Given the description of an element on the screen output the (x, y) to click on. 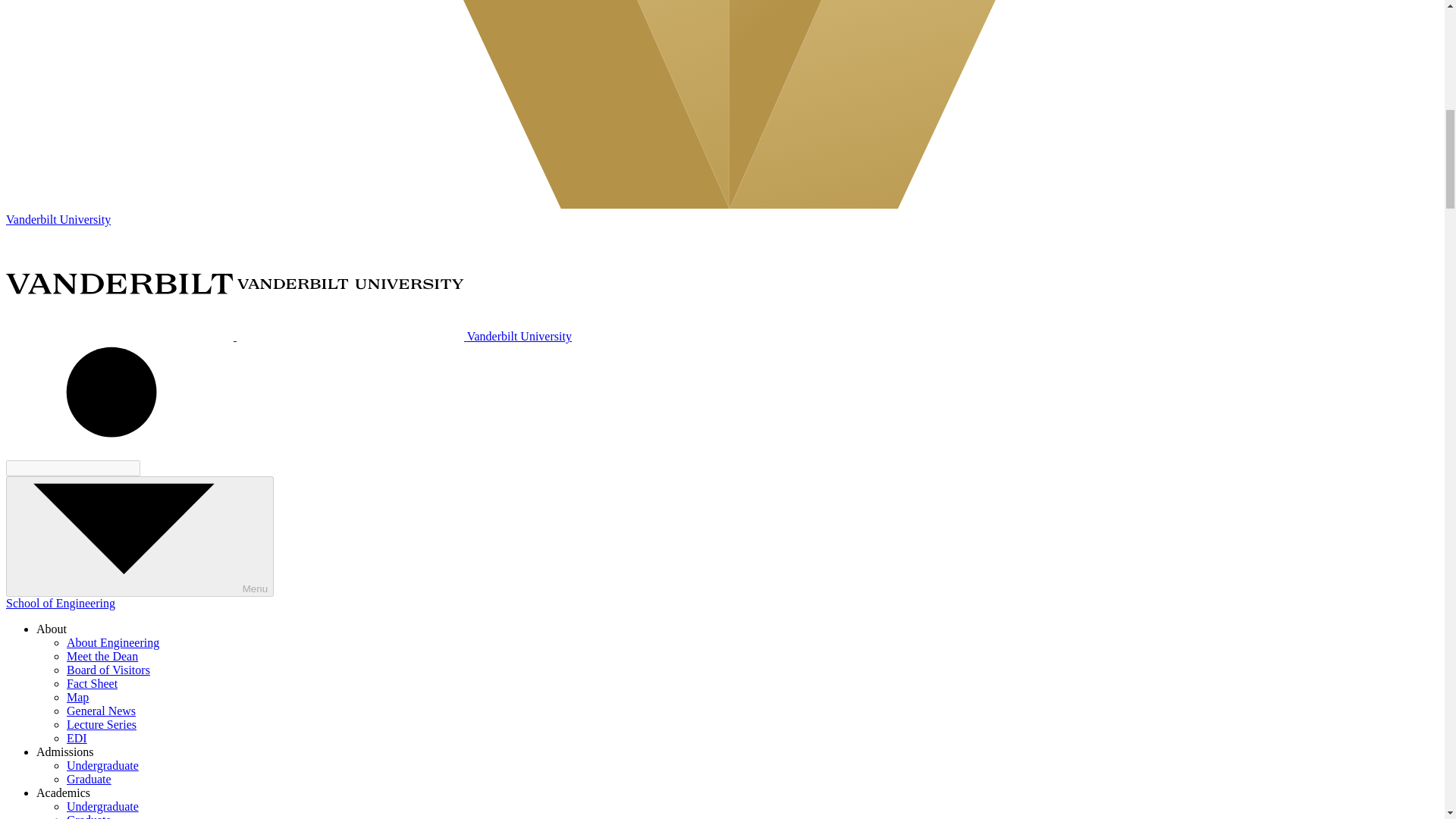
EDI (76, 738)
About Engineering (112, 642)
Graduate (89, 816)
About (51, 628)
General News (100, 710)
Undergraduate (102, 806)
Academics (63, 792)
Meet the Dean (102, 656)
School of Engineering (60, 603)
Fact Sheet (91, 683)
